Given the description of an element on the screen output the (x, y) to click on. 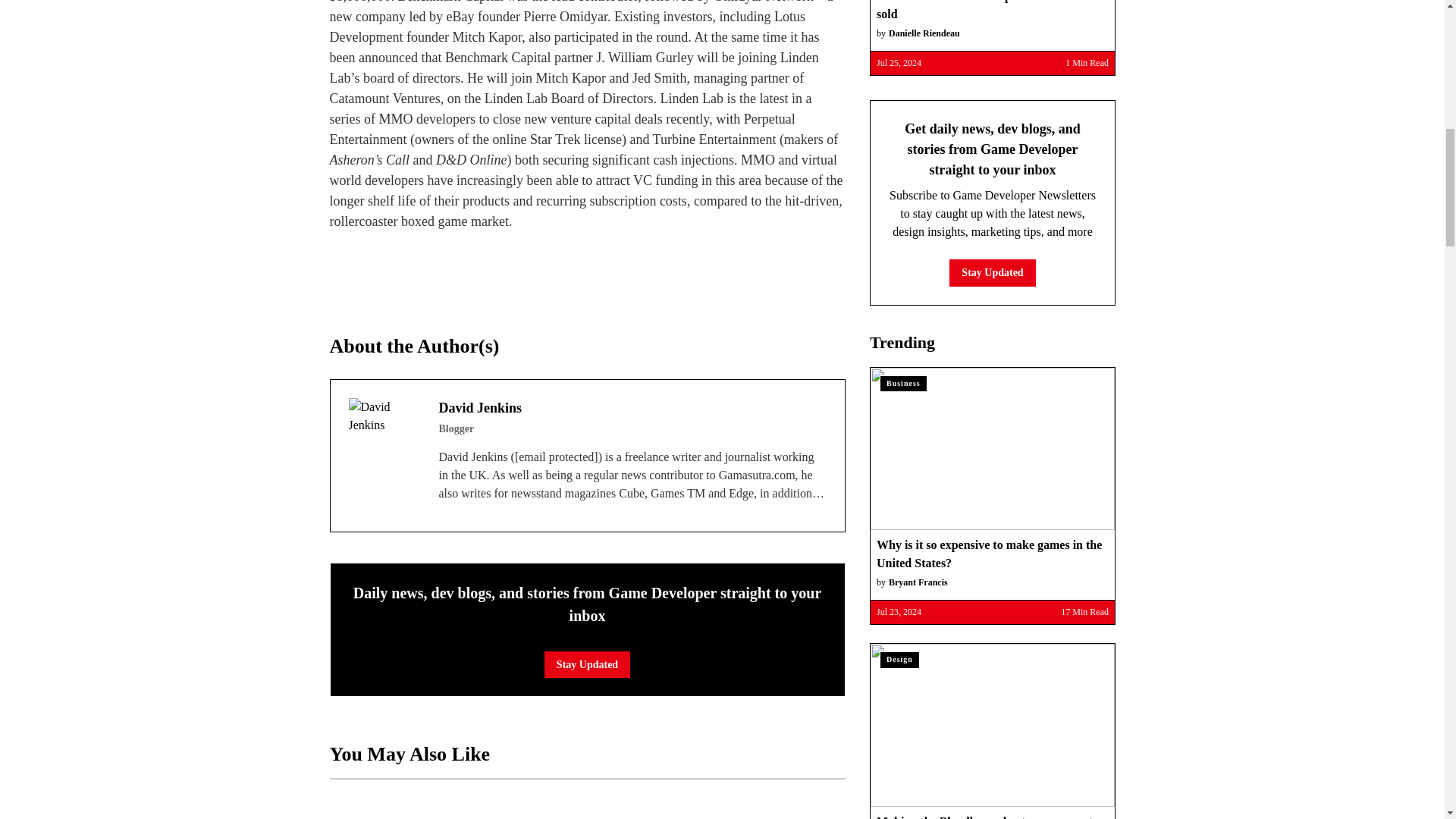
David Jenkins (384, 434)
